Given the description of an element on the screen output the (x, y) to click on. 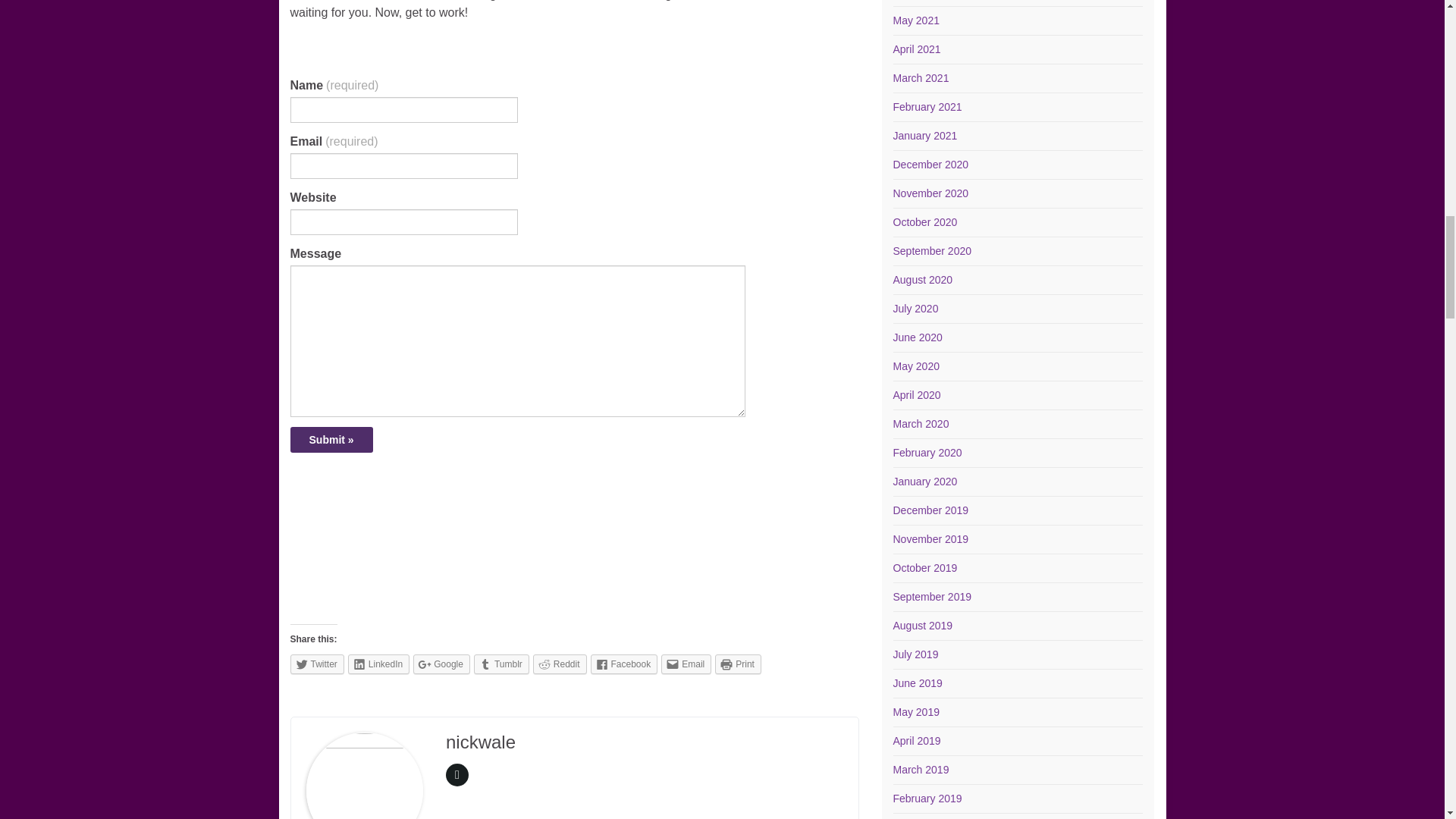
Email (686, 664)
Click to email this to a friend (686, 664)
Click to print (737, 664)
Reddit (559, 664)
Click to share on Reddit (559, 664)
Click to share on Twitter (316, 664)
Click to share on LinkedIn (378, 664)
LinkedIn (378, 664)
Print (737, 664)
Google (441, 664)
Click to share on Facebook (623, 664)
Tumblr (501, 664)
Facebook (623, 664)
Twitter (316, 664)
Click to share on Tumblr (501, 664)
